Given the description of an element on the screen output the (x, y) to click on. 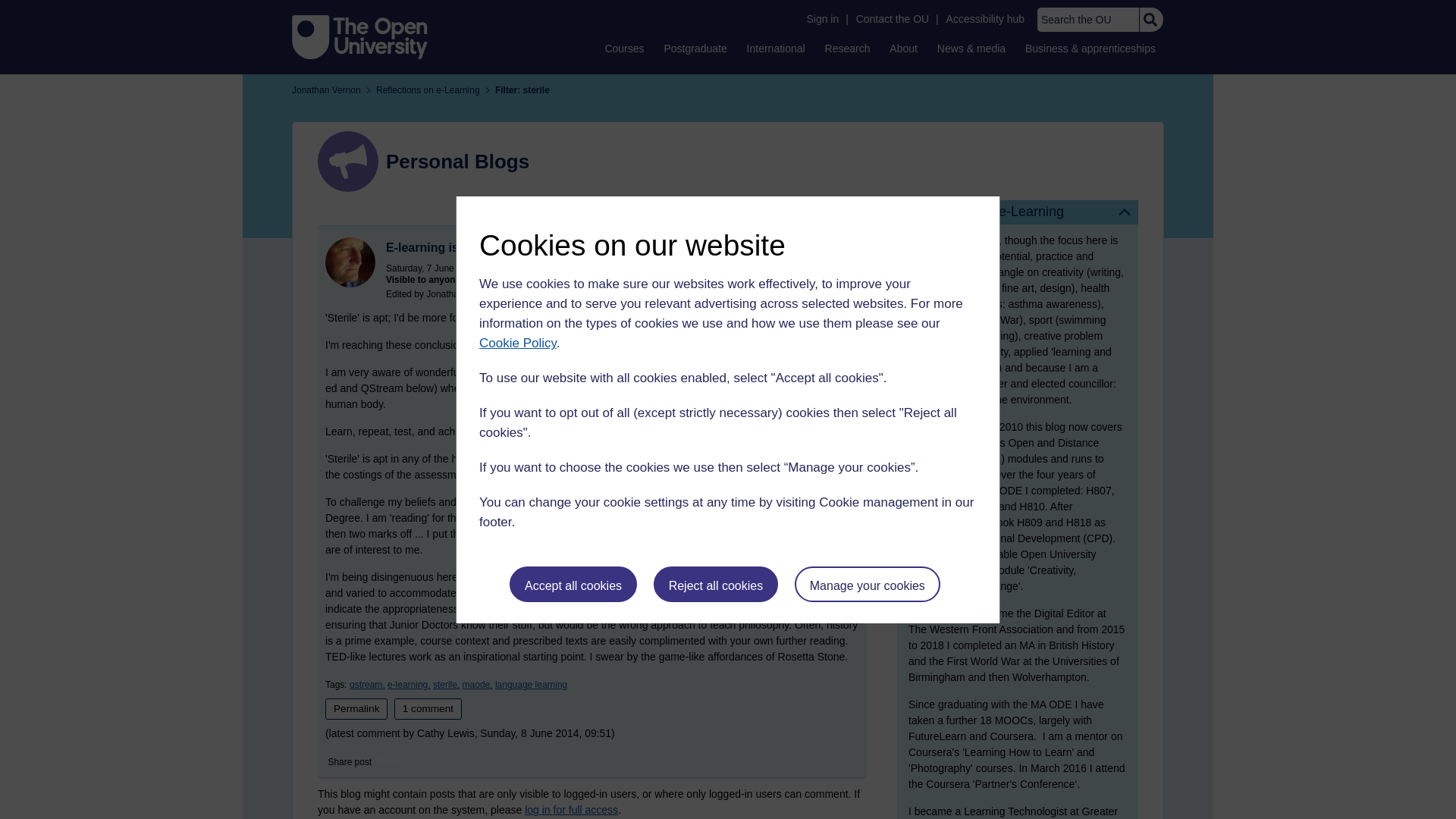
About (903, 48)
International (775, 48)
Manage your cookies (867, 583)
Reflections on e-Learning (1017, 211)
Reject all cookies (715, 583)
Postgraduate (695, 48)
Sign in (822, 19)
Search (1149, 19)
Accessibility hub (985, 19)
Cookie Policy (517, 342)
Research (847, 48)
The Open University (360, 36)
Contact the OU (892, 19)
Search (1149, 19)
